Given the description of an element on the screen output the (x, y) to click on. 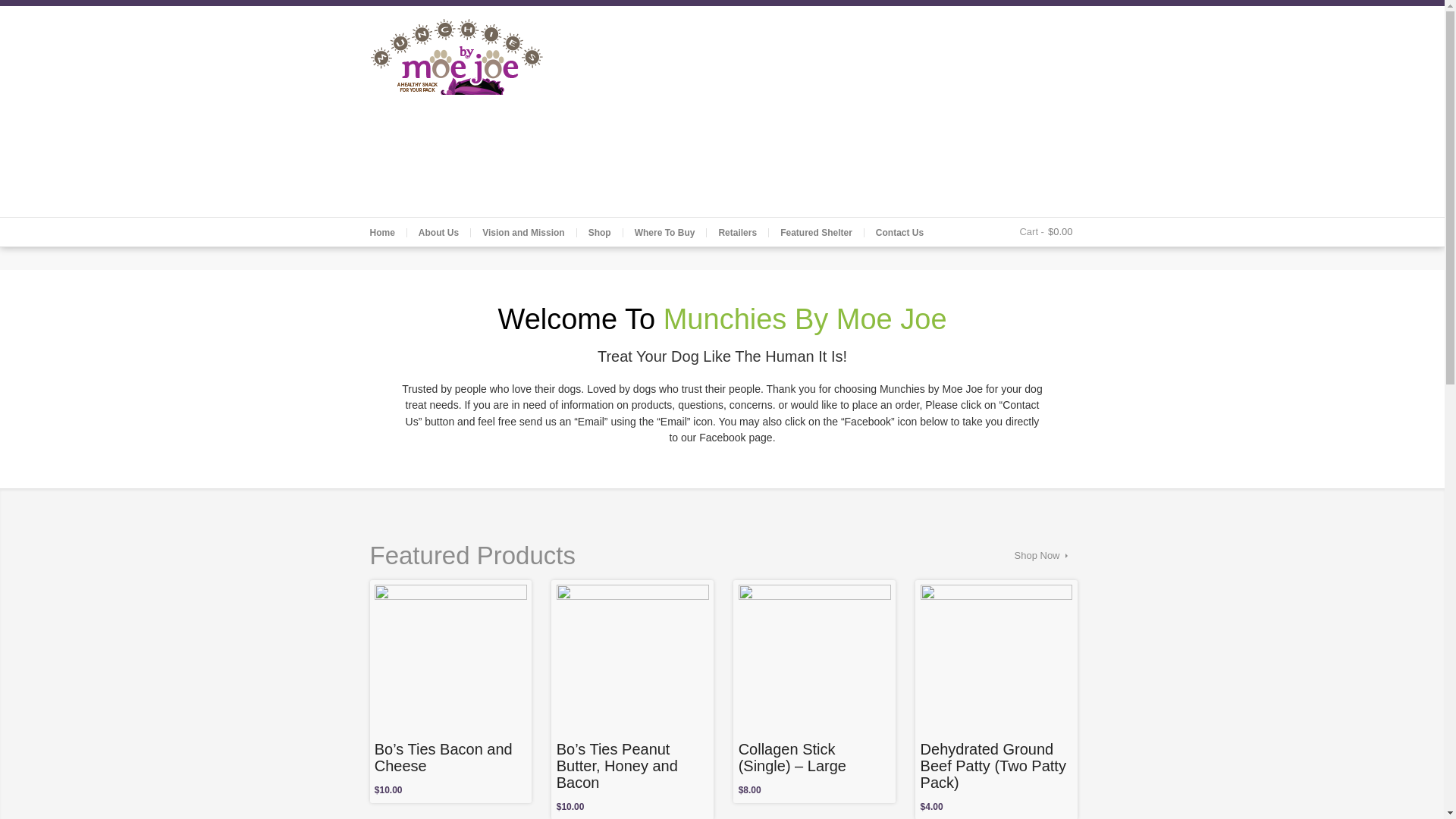
Contact Us (898, 232)
Where To Buy (664, 232)
Home (382, 232)
Vision and Mission (522, 232)
Featured Shelter (815, 232)
About Us (438, 232)
Retailers (737, 232)
Shop (599, 232)
Shop Now (1044, 555)
Cart - (1033, 231)
